Given the description of an element on the screen output the (x, y) to click on. 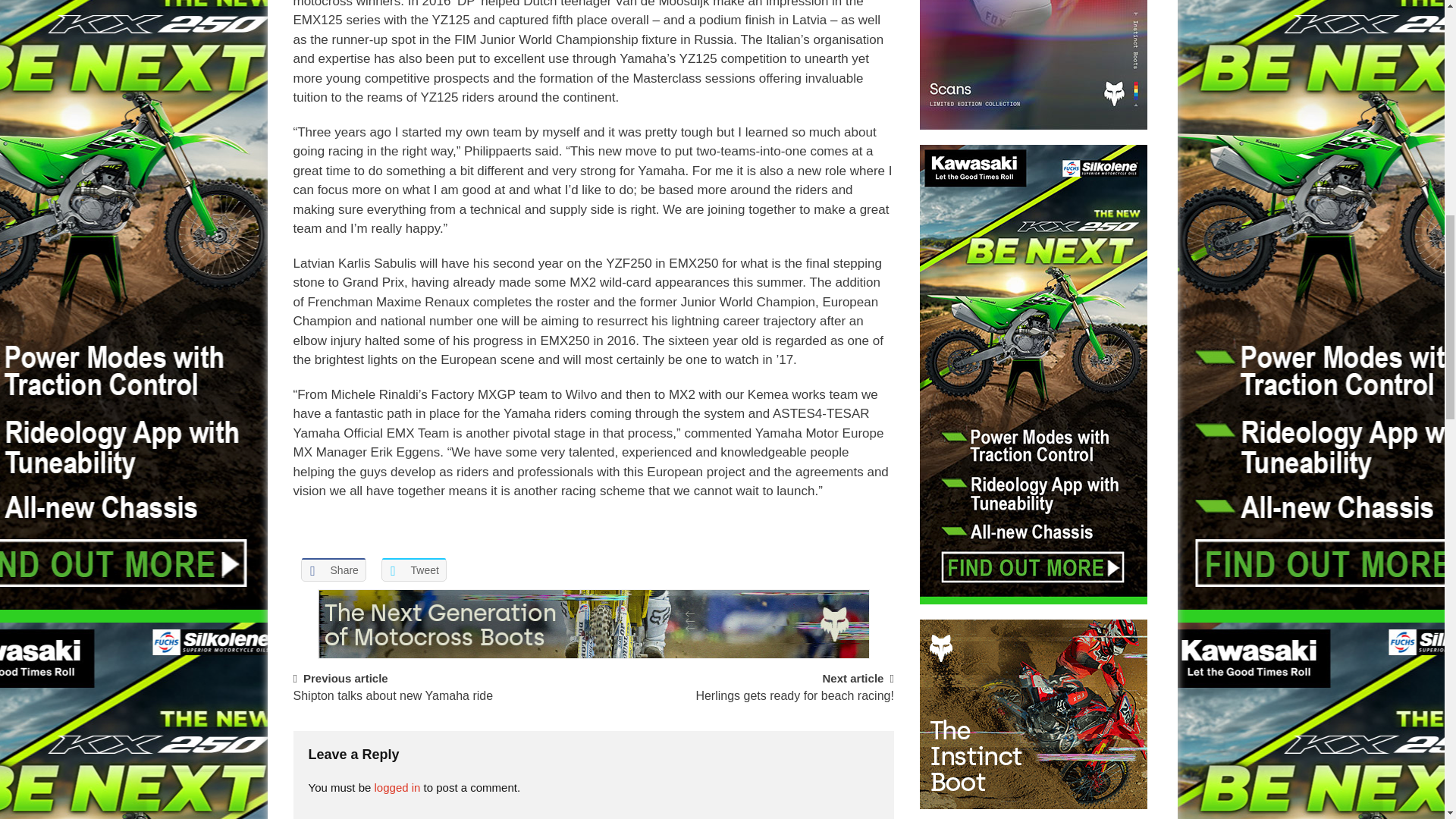
Share on Facebook (332, 569)
Tweet (412, 569)
Share on Twitter (412, 569)
Shipton talks about new Yamaha ride (392, 703)
Share (332, 569)
